Given the description of an element on the screen output the (x, y) to click on. 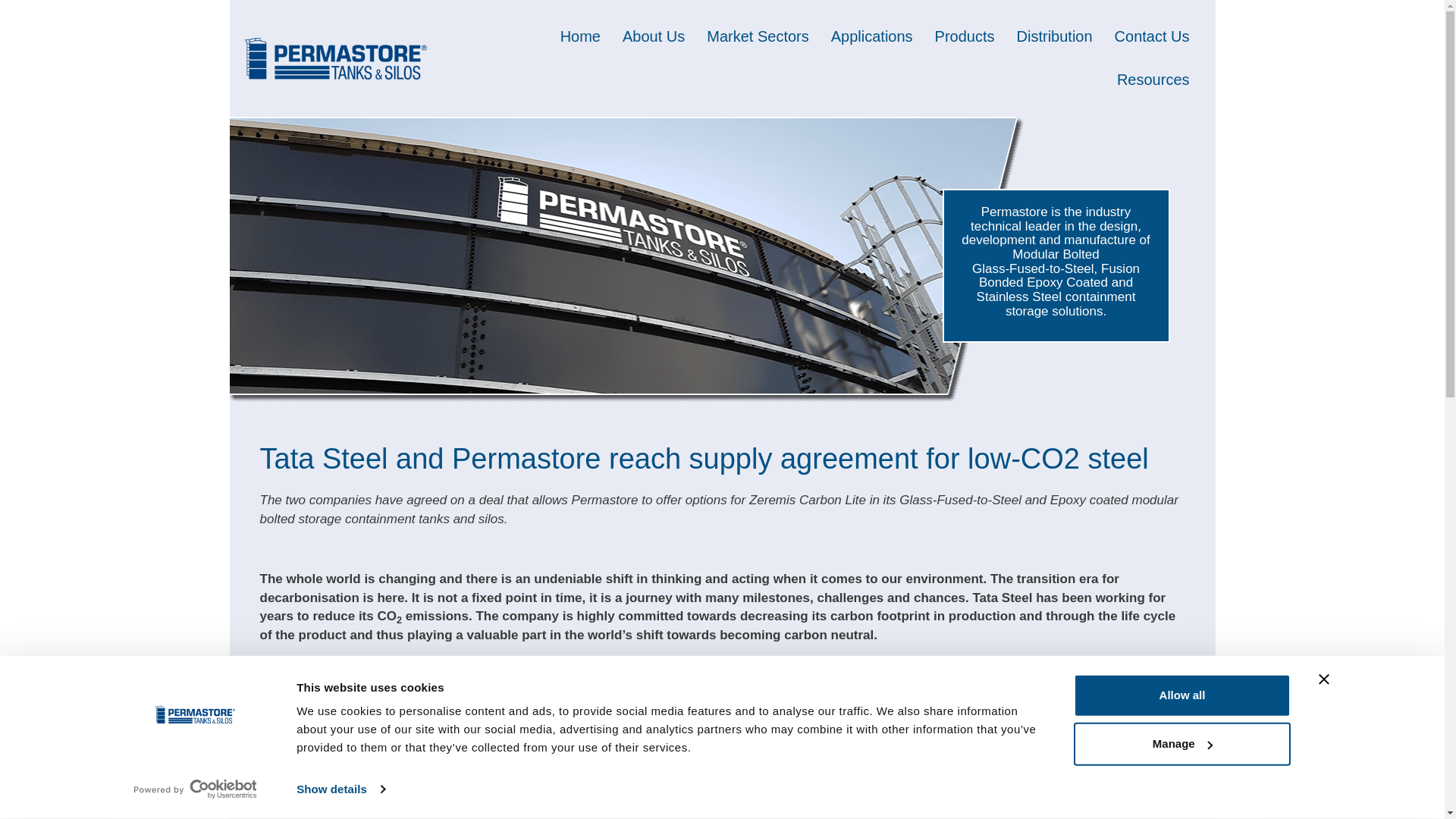
permastore new logo sm (335, 58)
Home (580, 36)
Manage (1182, 743)
Show details (340, 789)
About Us (653, 36)
About Us (653, 36)
Home (580, 36)
Market Sectors (756, 36)
Allow all (1182, 695)
